Given the description of an element on the screen output the (x, y) to click on. 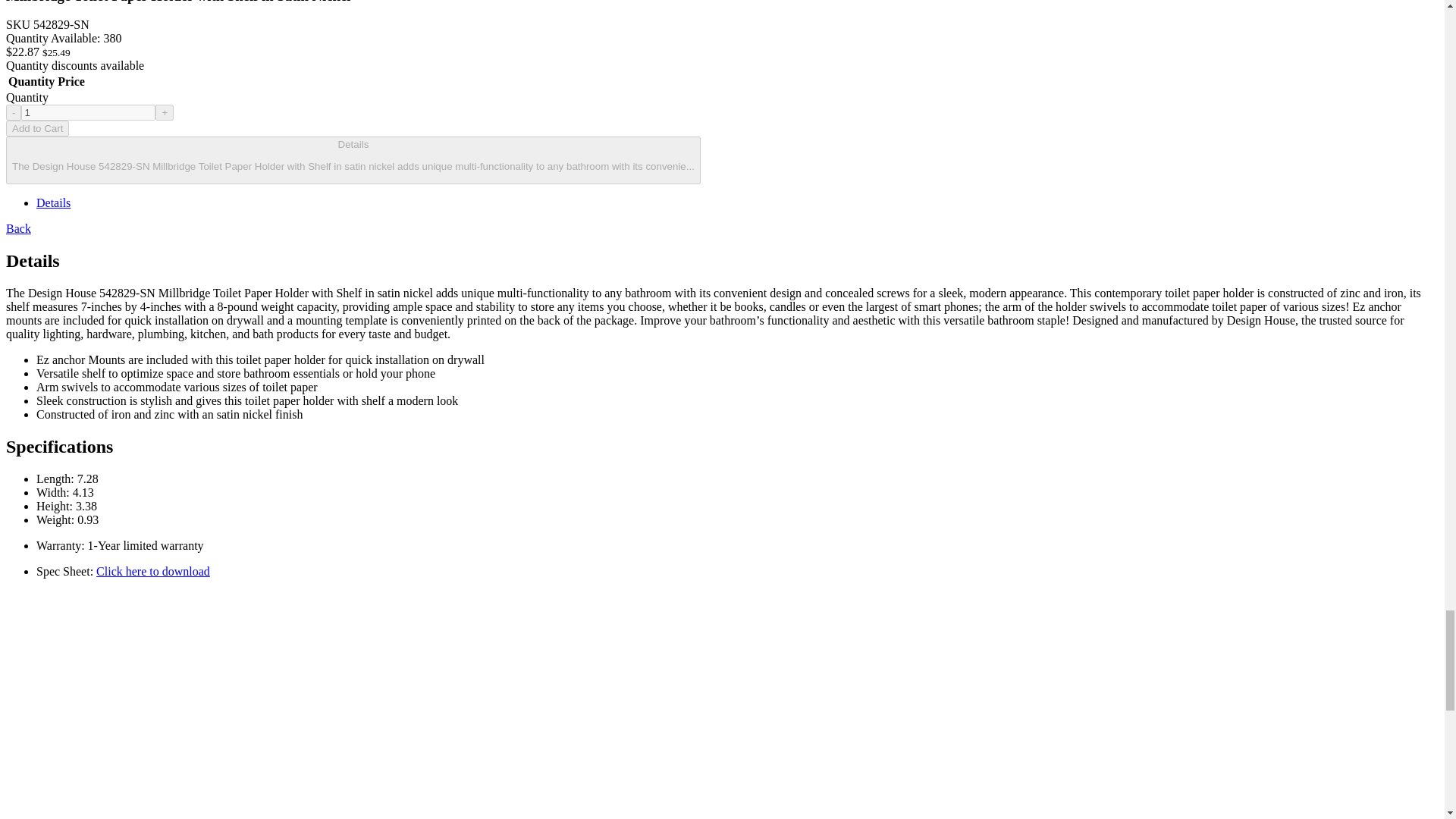
Quantity discounts available (74, 65)
1 (88, 112)
Back (17, 228)
Add to Cart (36, 128)
Details (52, 202)
Click here to download (152, 571)
- (13, 112)
